Given the description of an element on the screen output the (x, y) to click on. 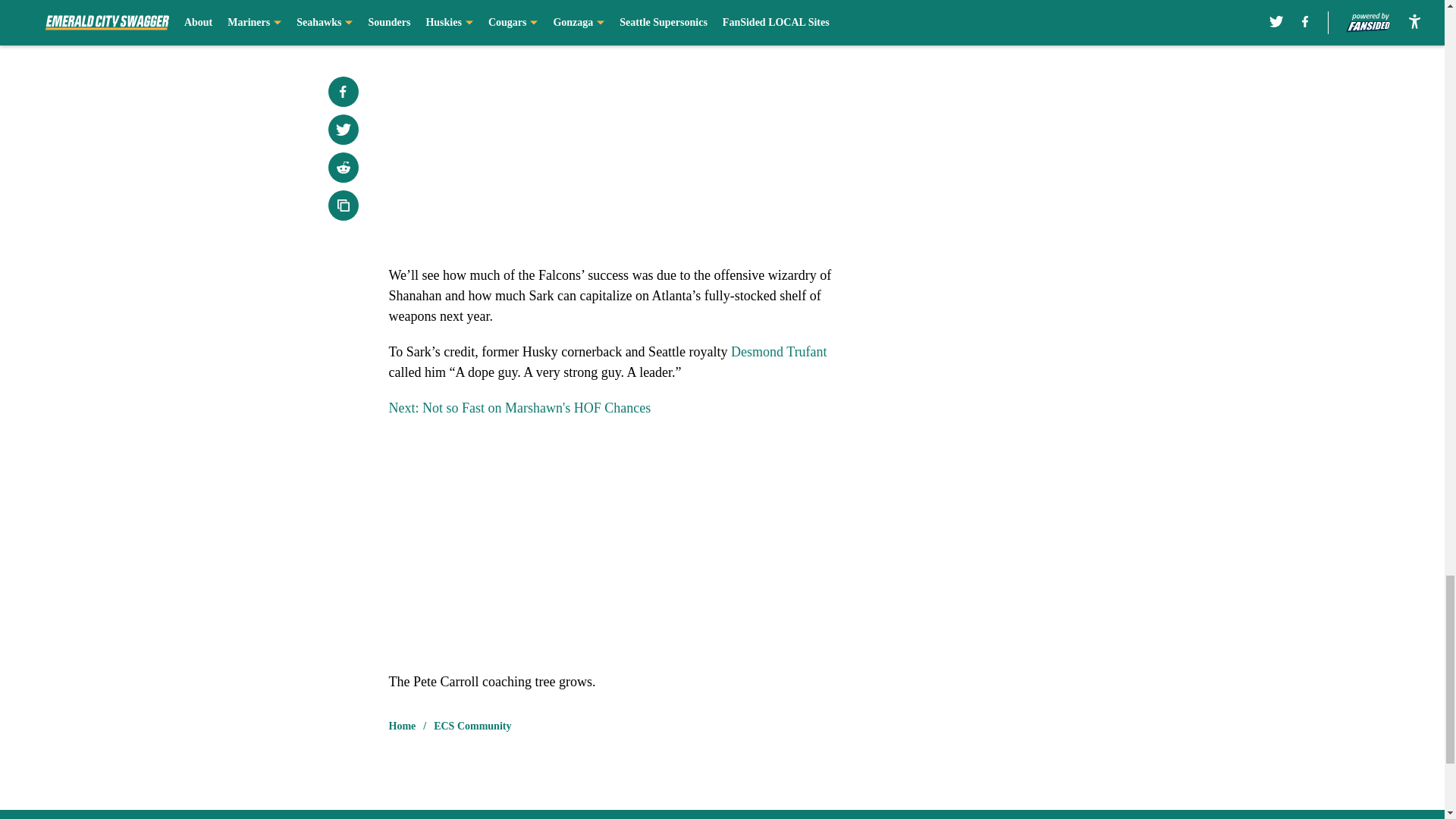
Desmond Trufant (778, 351)
